Given the description of an element on the screen output the (x, y) to click on. 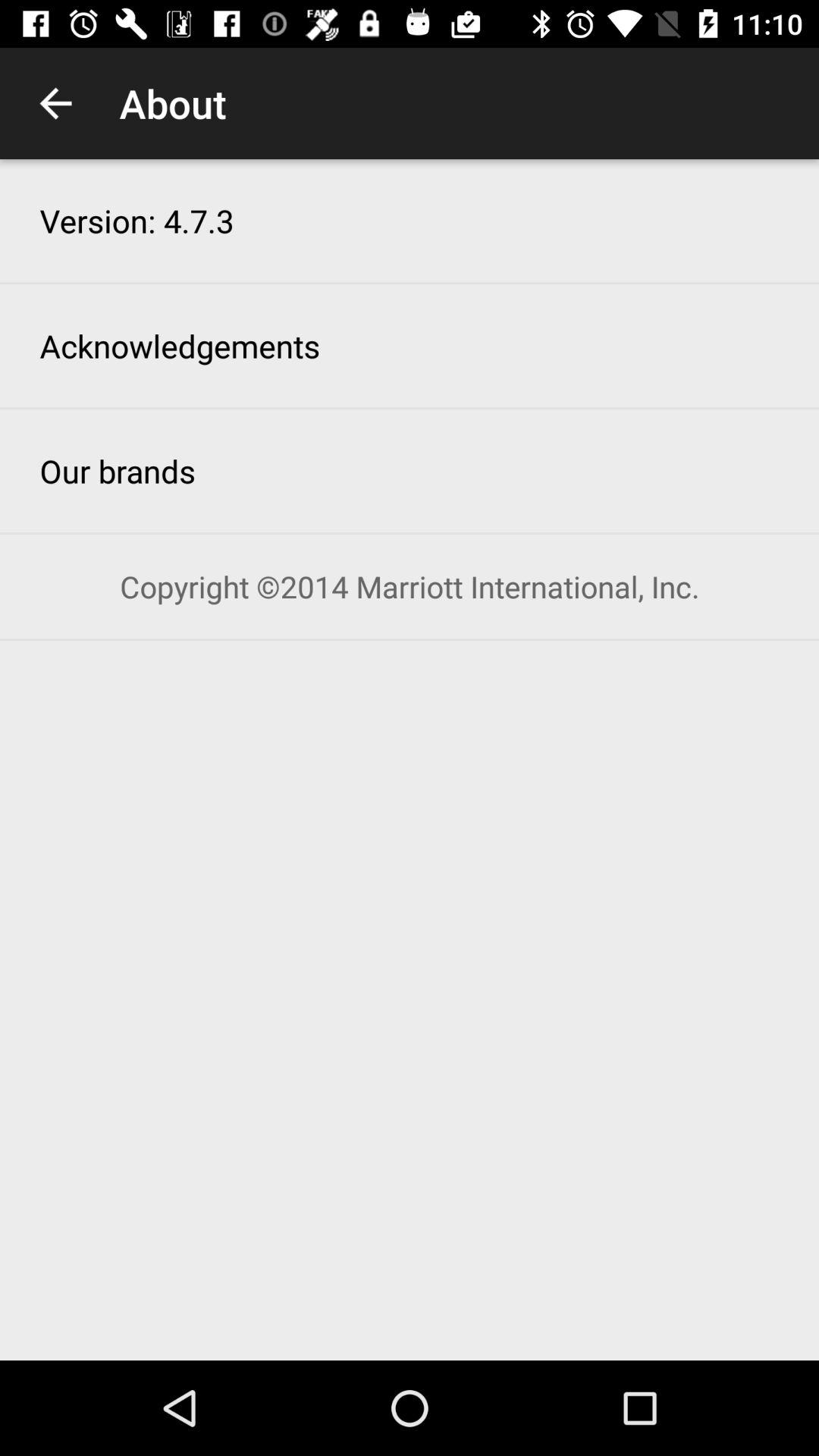
scroll until our brands item (117, 470)
